Given the description of an element on the screen output the (x, y) to click on. 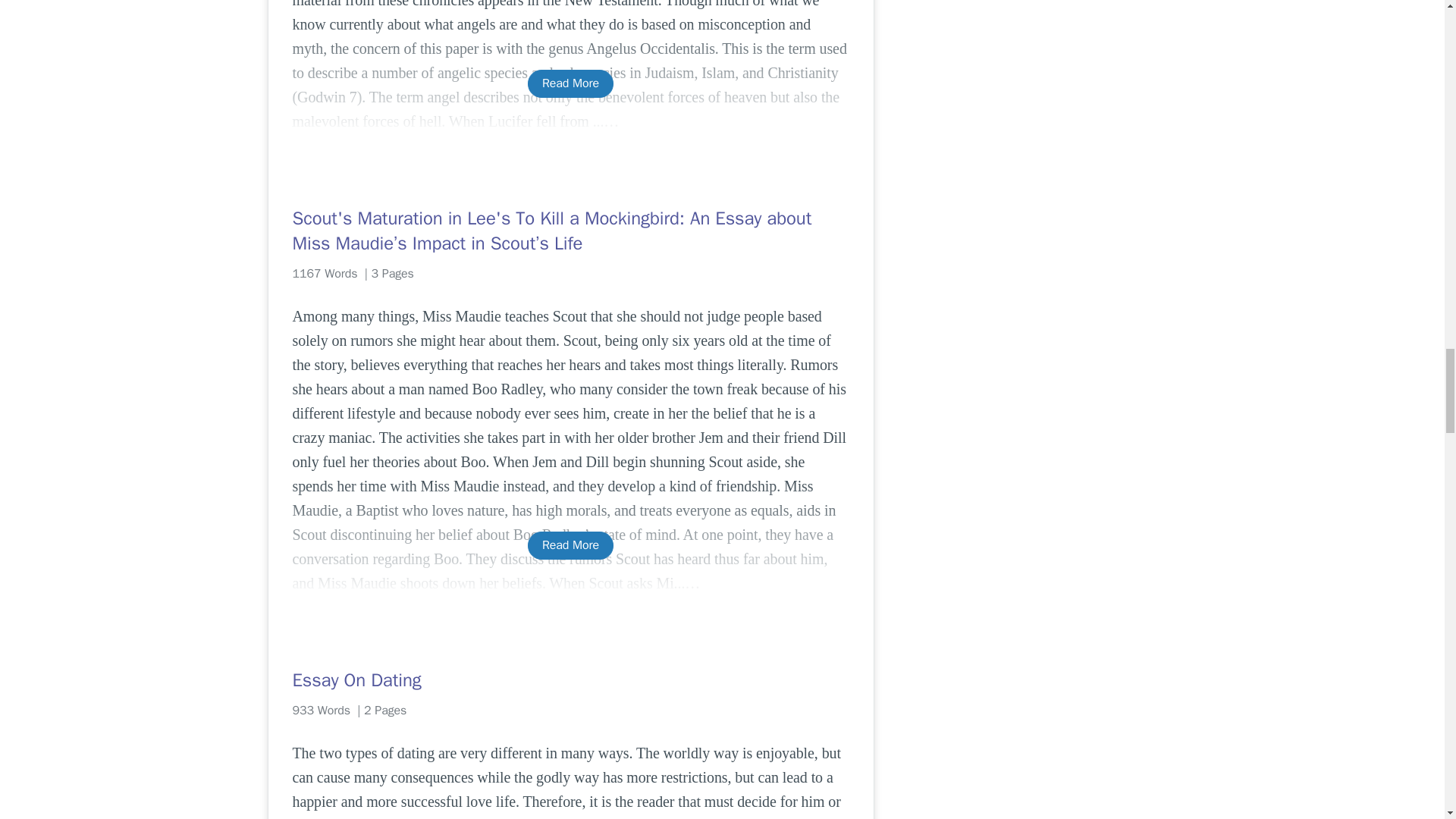
Read More (569, 83)
Read More (569, 545)
Essay On Dating (570, 680)
